Given the description of an element on the screen output the (x, y) to click on. 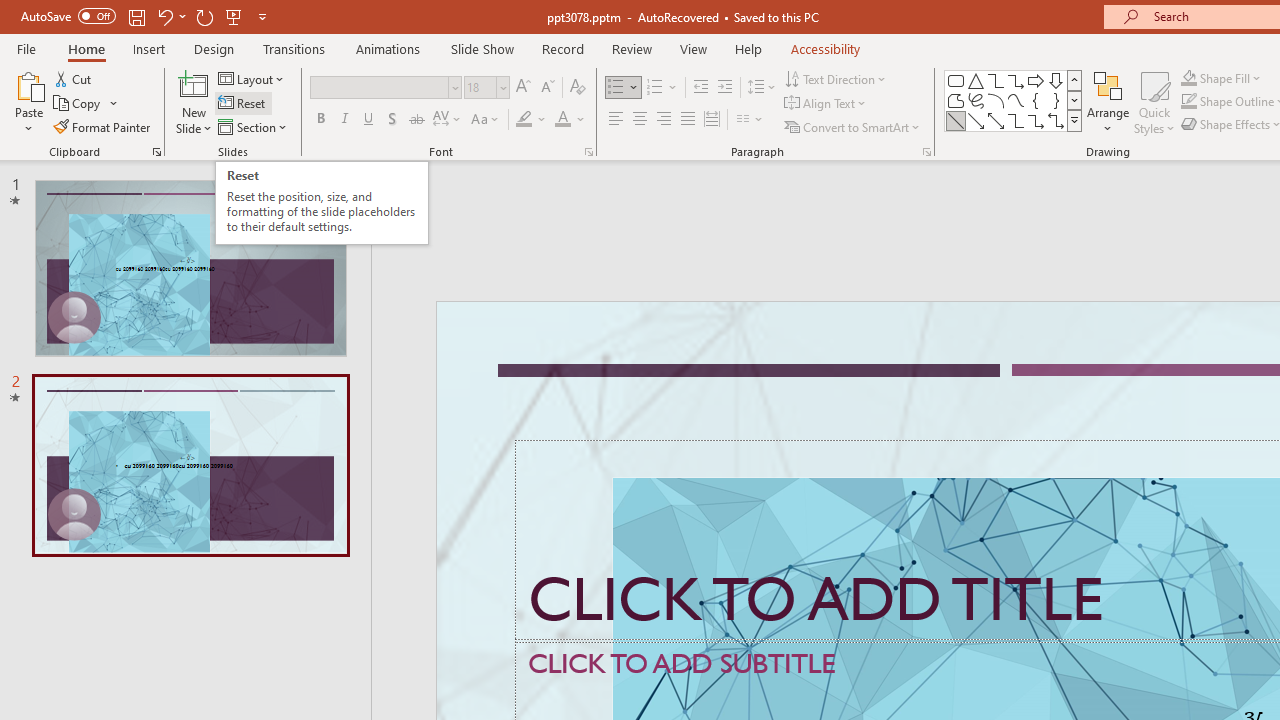
json2jsonl.py (1092, 322)
Go Forward (Alt+RightArrow) (1102, 265)
Close (Ctrl+F4) (1188, 322)
Notebook (1083, 202)
